Given the description of an element on the screen output the (x, y) to click on. 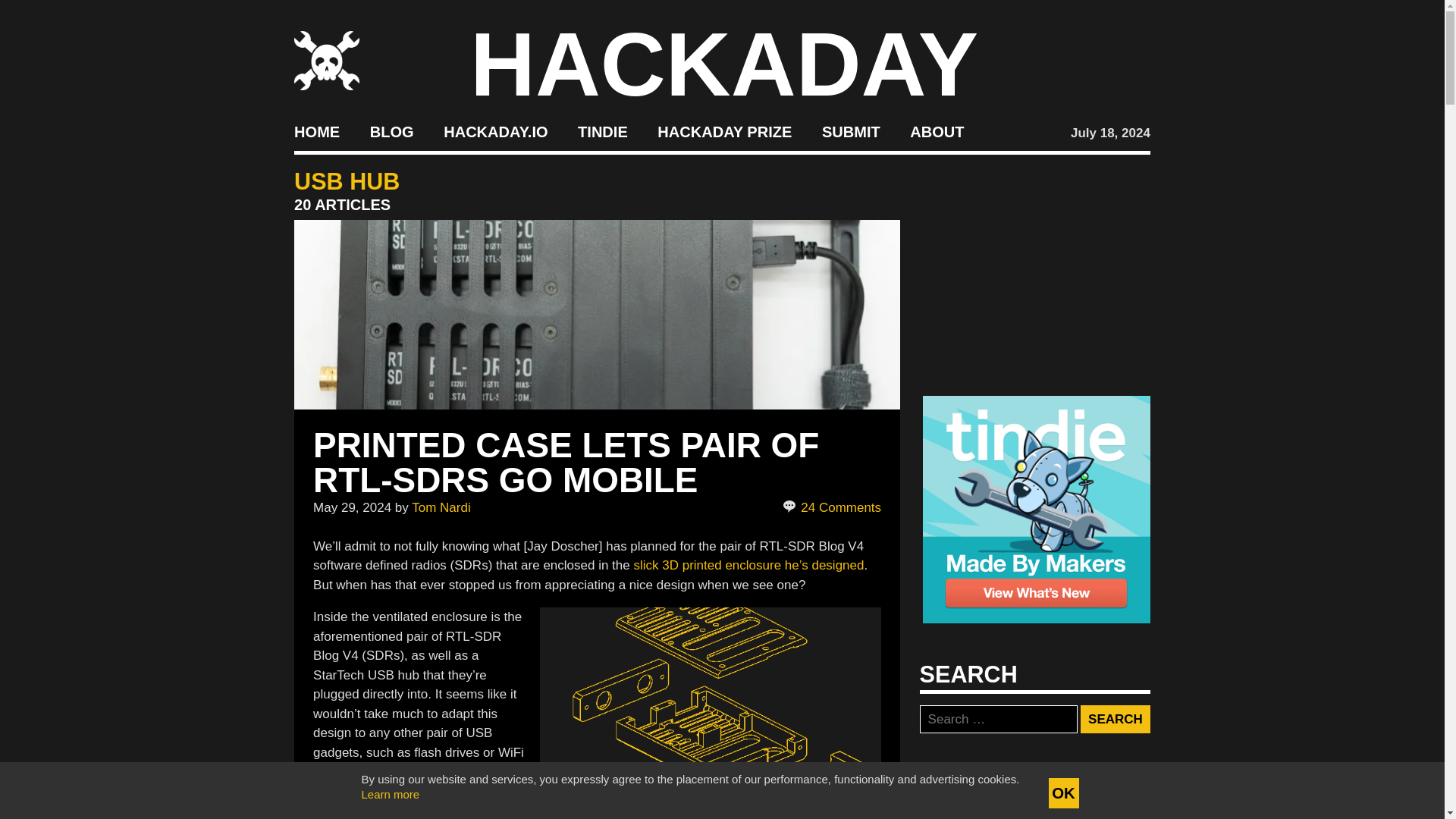
Search (1115, 719)
Tom Nardi (441, 507)
TINDIE (602, 131)
BLOG (391, 131)
SUBMIT (851, 131)
May 29, 2024 - 1:00 am (352, 507)
HACKADAY.IO (495, 131)
ABOUT (936, 131)
May 29, 2024 (352, 507)
HACKADAY (724, 63)
PRINTED CASE LETS PAIR OF RTL-SDRS GO MOBILE (565, 462)
Build Something that Matters (725, 131)
24 Comments (832, 506)
Search (1115, 719)
